Given the description of an element on the screen output the (x, y) to click on. 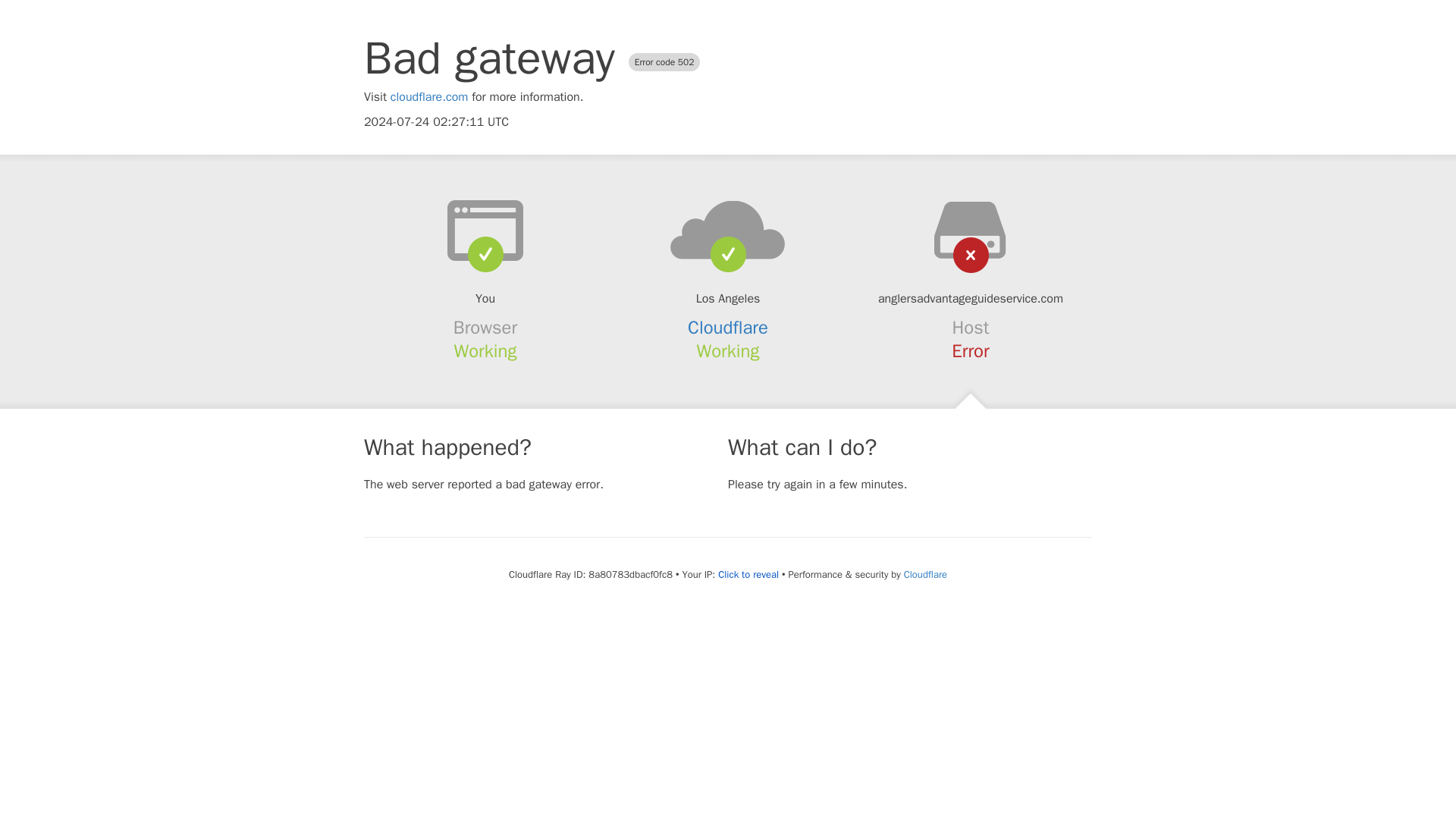
Cloudflare (925, 574)
Cloudflare (727, 327)
Click to reveal (747, 574)
cloudflare.com (429, 96)
